Given the description of an element on the screen output the (x, y) to click on. 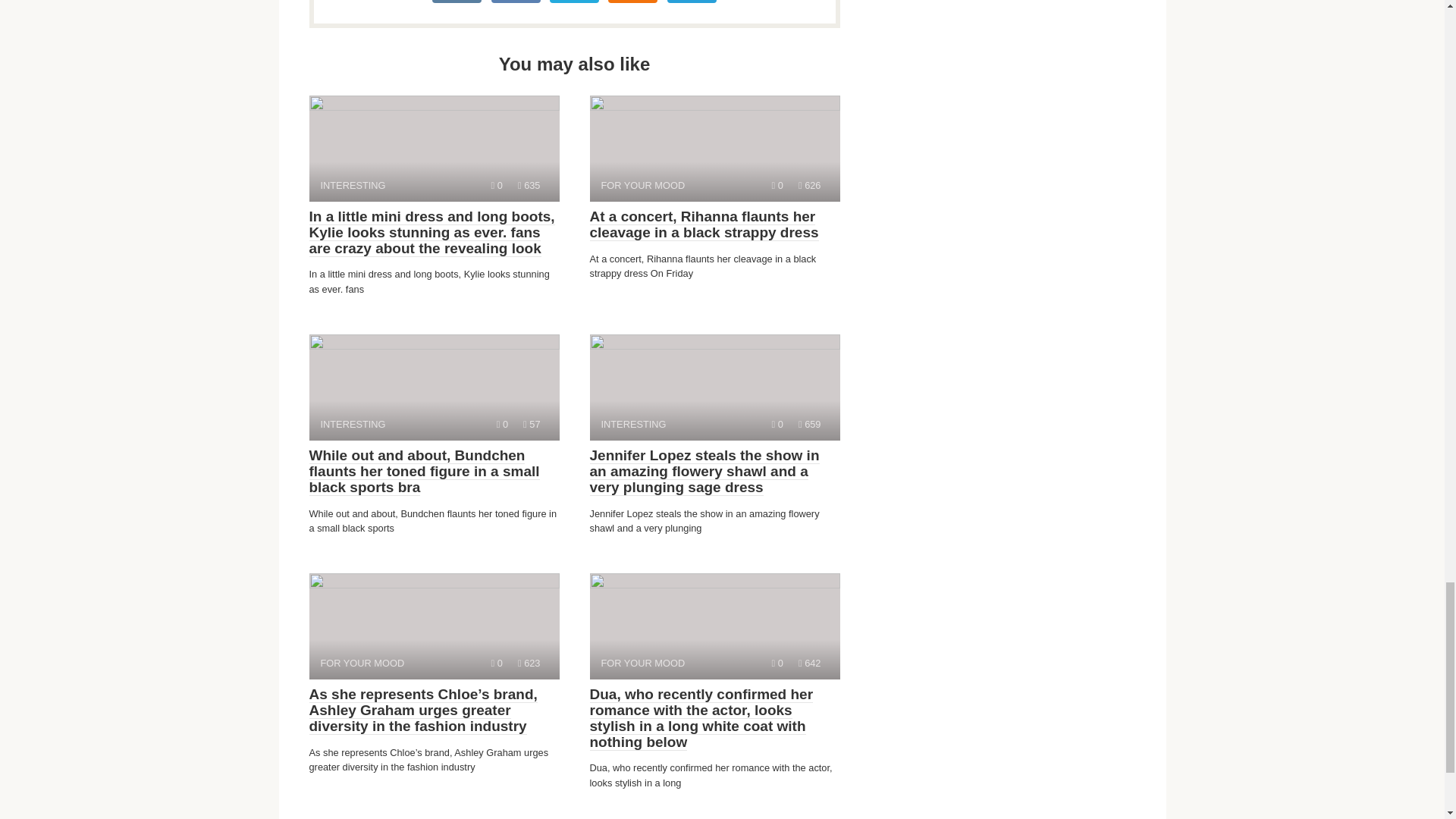
Comments (714, 387)
Views (714, 148)
Comments (777, 663)
Views (529, 663)
Views (777, 423)
